Given the description of an element on the screen output the (x, y) to click on. 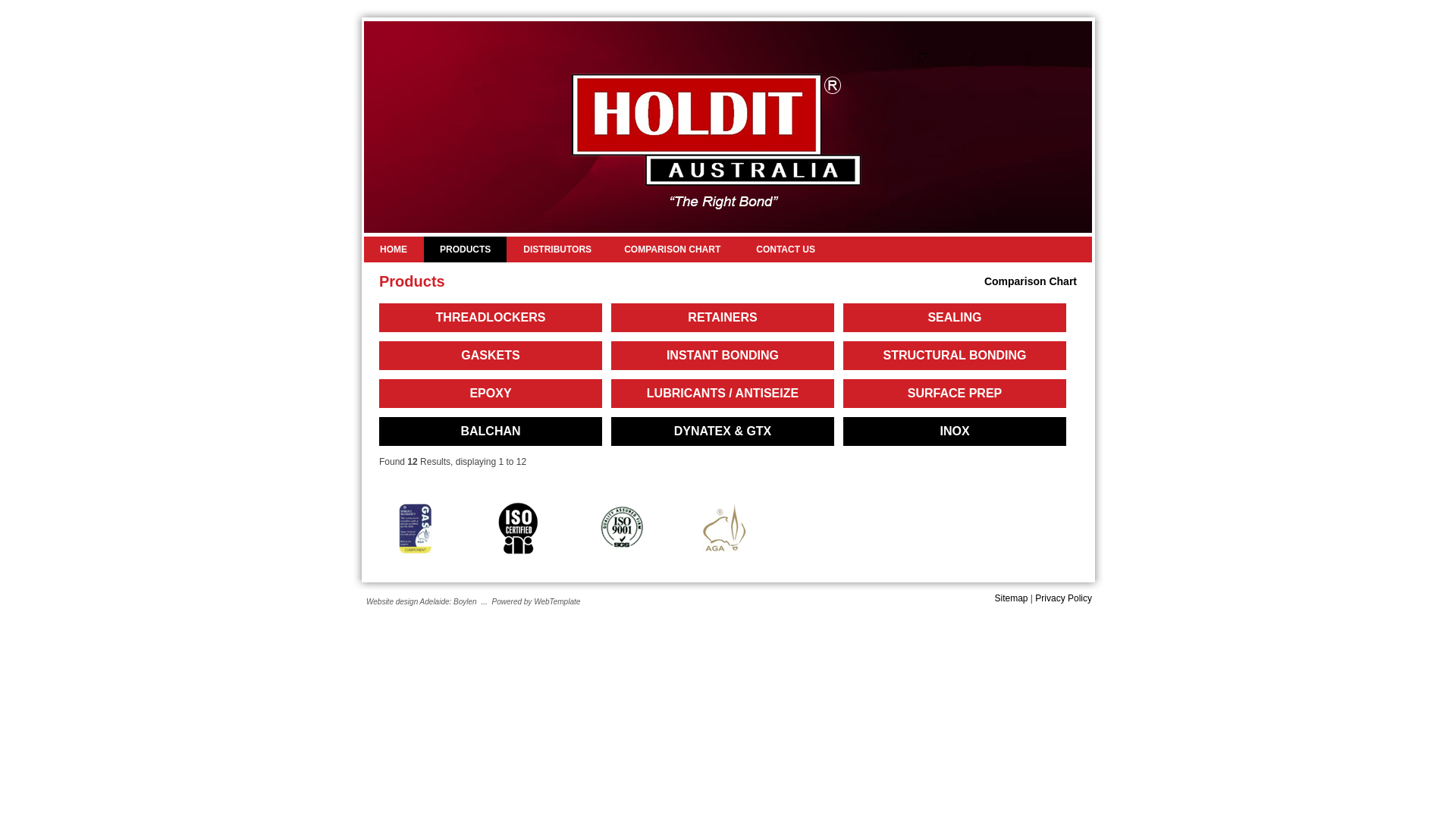
SURFACE PREP Element type: text (954, 393)
Sitemap Element type: text (1010, 598)
THREADLOCKERS Element type: text (490, 317)
iso-9001.gif Element type: hover (621, 528)
CONTACT US Element type: text (785, 249)
BALCHAN Element type: text (490, 431)
PRODUCTS Element type: text (464, 249)
gas.gif Element type: hover (415, 528)
Comparison Chart Element type: text (1030, 281)
GASKETS Element type: text (490, 355)
Privacy Policy Element type: text (1063, 598)
INOX Element type: text (954, 431)
RETAINERS Element type: text (722, 317)
COMPARISON CHART Element type: text (672, 249)
DYNATEX & GTX Element type: text (722, 431)
Website design Adelaide: Boylen Element type: text (421, 601)
STRUCTURAL BONDING Element type: text (954, 355)
SEALING Element type: text (954, 317)
LUBRICANTS / ANTISEIZE Element type: text (722, 393)
EPOXY Element type: text (490, 393)
INSTANT BONDING Element type: text (722, 355)
HOME Element type: text (393, 249)
DISTRIBUTORS Element type: text (557, 249)
aga.gif Element type: hover (724, 528)
Powered by WebTemplate Element type: text (536, 601)
